Given the description of an element on the screen output the (x, y) to click on. 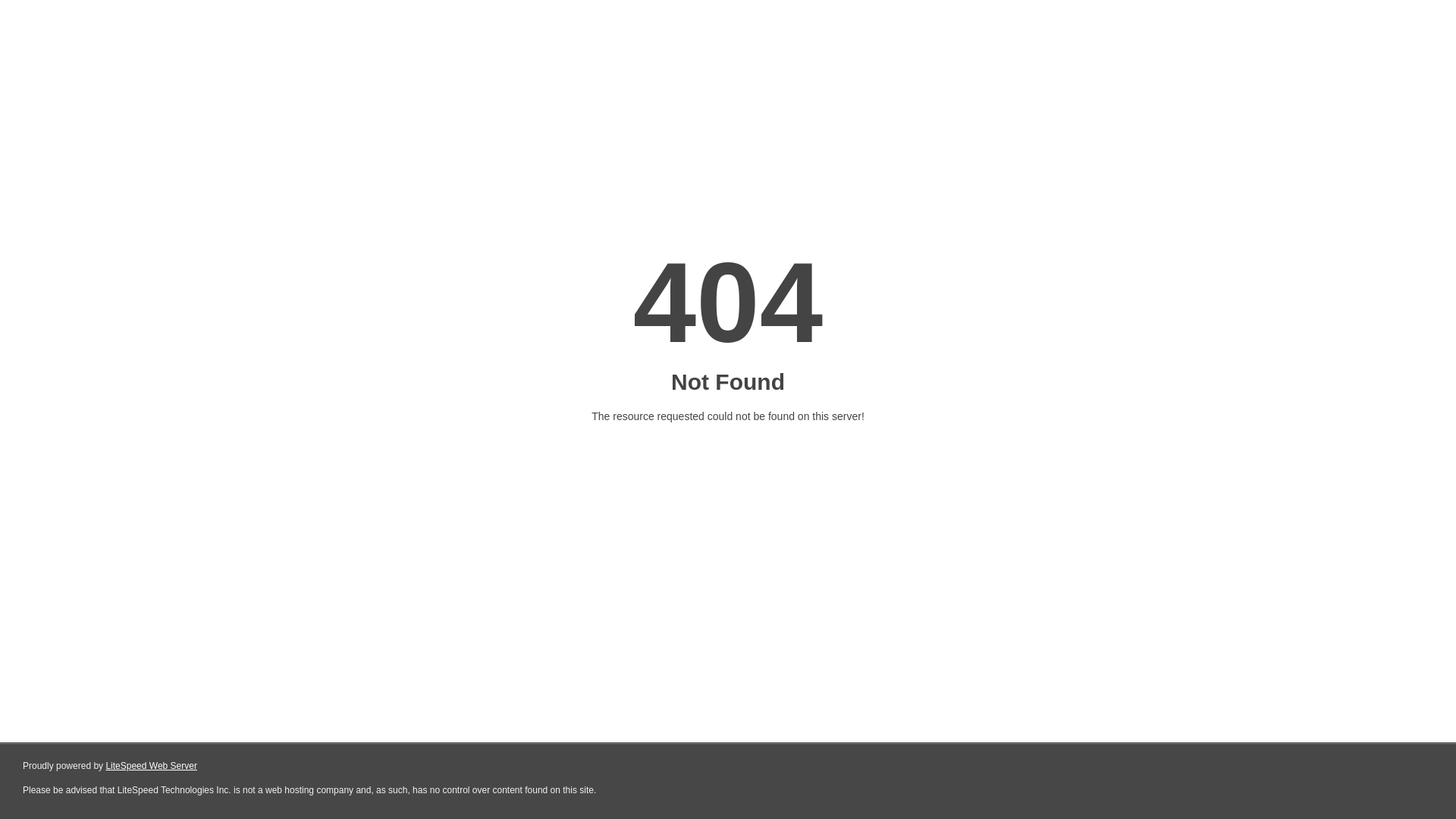
LiteSpeed Web Server Element type: text (151, 765)
